Given the description of an element on the screen output the (x, y) to click on. 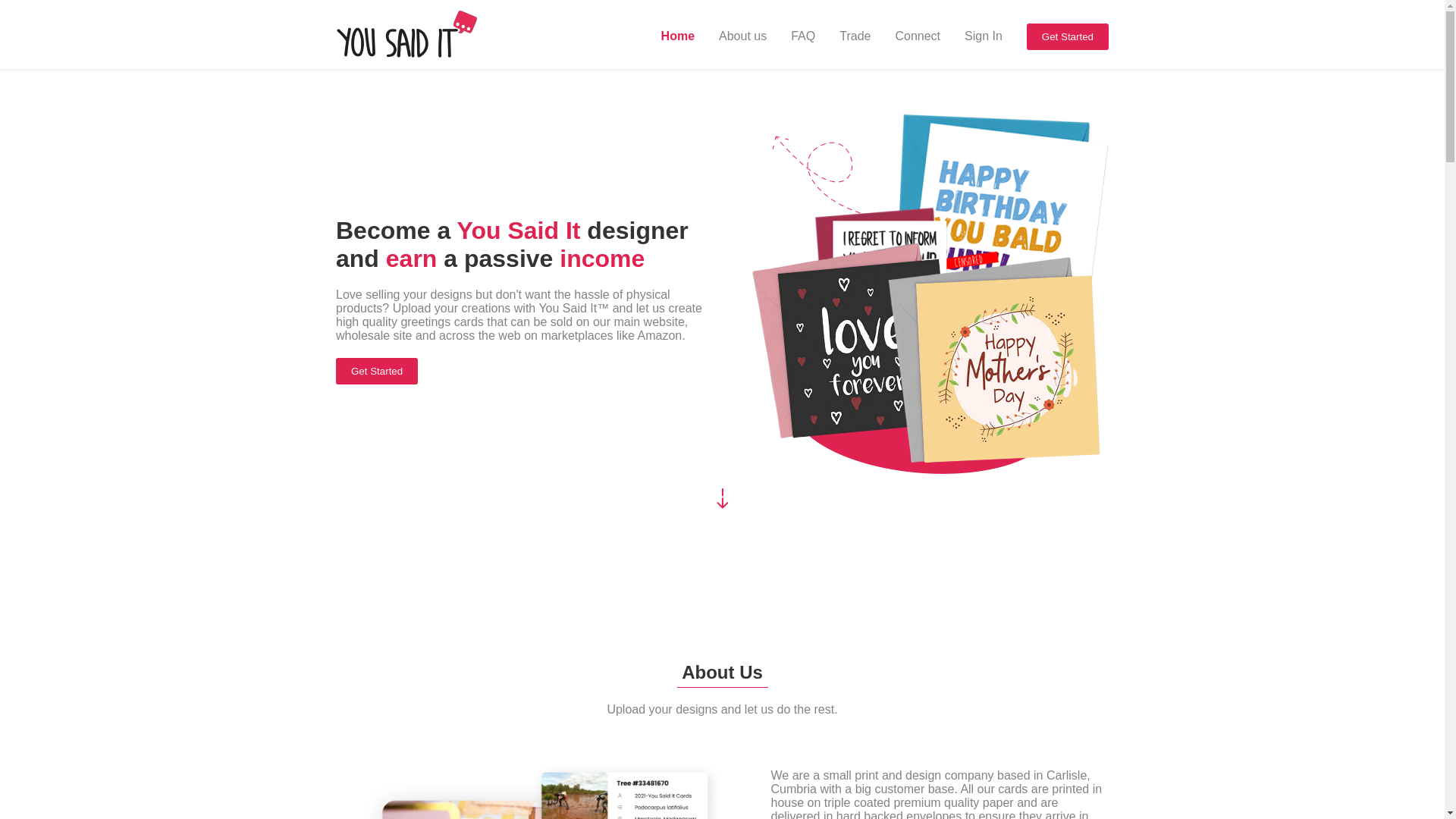
Sign In (983, 35)
About us (743, 35)
FAQ (802, 35)
Get Started (1067, 35)
Get Started (376, 370)
Home (677, 35)
Connect (917, 35)
Trade (855, 35)
